Given the description of an element on the screen output the (x, y) to click on. 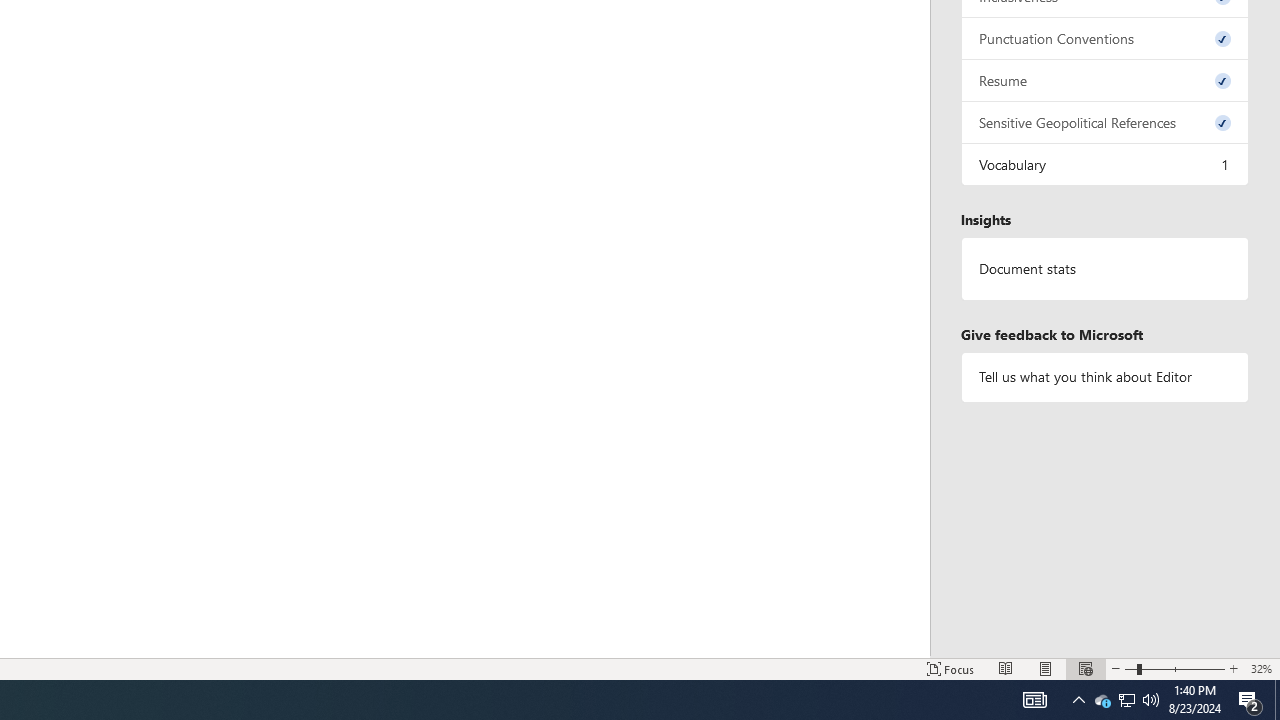
Document statistics (1105, 269)
Zoom 32% (1261, 668)
Vocabulary, 1 issue. Press space or enter to review items. (1105, 164)
Tell us what you think about Editor (1105, 376)
Resume, 0 issues. Press space or enter to review items. (1105, 79)
